Given the description of an element on the screen output the (x, y) to click on. 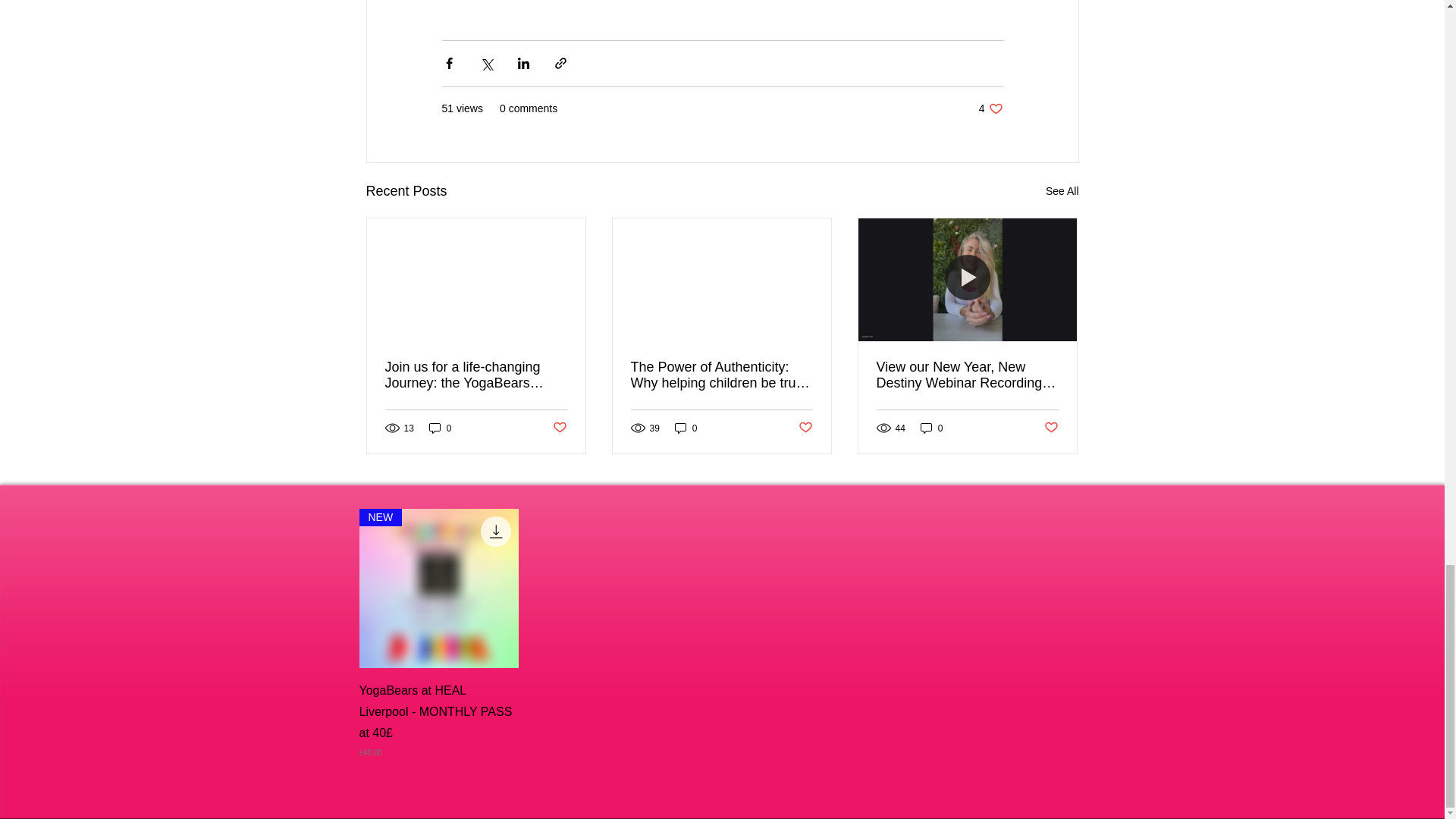
Post not marked as liked (990, 108)
See All (804, 427)
Post not marked as liked (1061, 191)
0 (558, 427)
0 (685, 427)
